Given the description of an element on the screen output the (x, y) to click on. 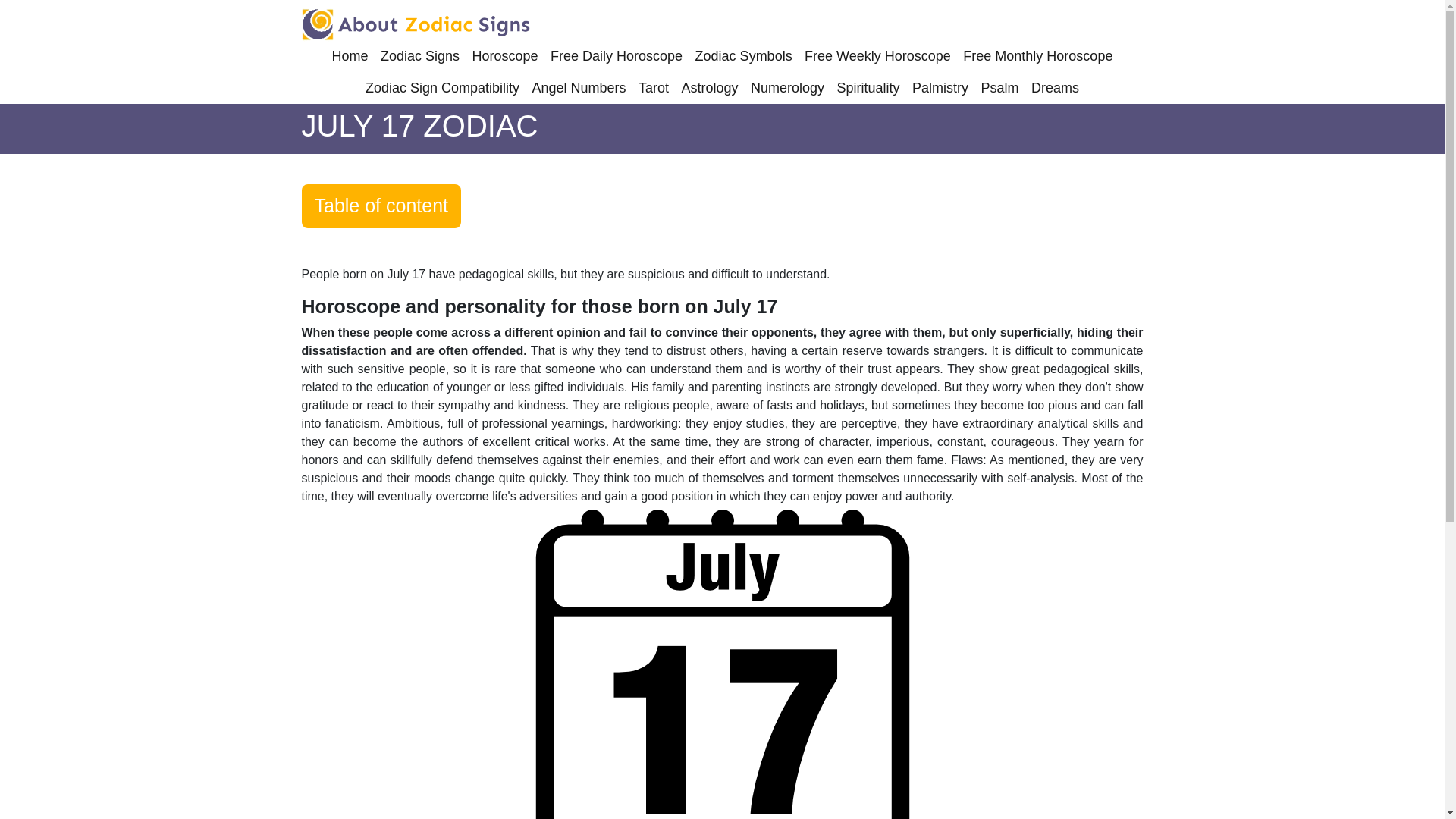
Numerology (787, 88)
Home (349, 56)
Table of content (381, 206)
Angel Numbers (579, 88)
Psalm (1000, 88)
Spirituality (868, 88)
Palmistry (940, 88)
Dreams (1054, 88)
Zodiac Symbols (743, 56)
Zodiac Signs (420, 56)
Astrology (709, 88)
Free Weekly Horoscope (877, 56)
Tarot (653, 88)
Zodiac Sign Compatibility (442, 88)
